Given the description of an element on the screen output the (x, y) to click on. 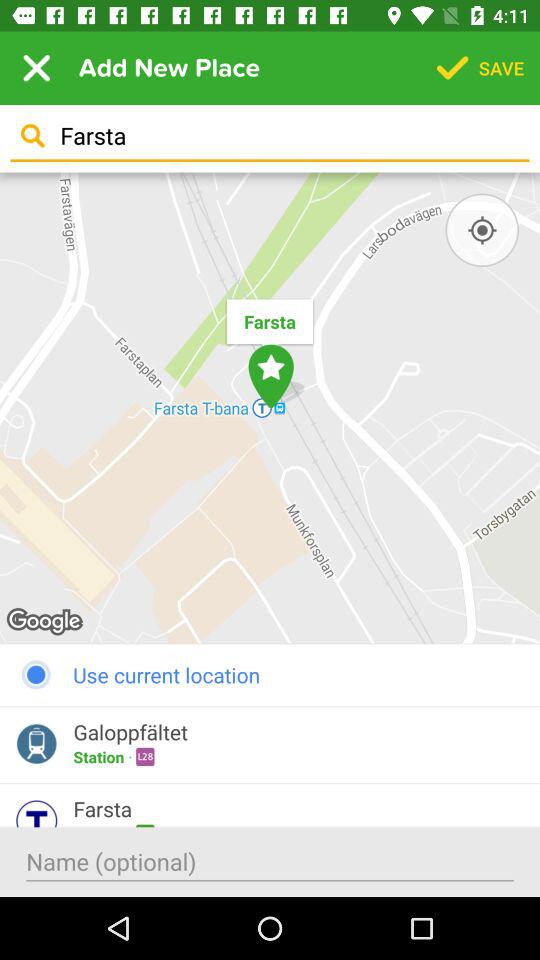
choose item next to add new place item (36, 68)
